Given the description of an element on the screen output the (x, y) to click on. 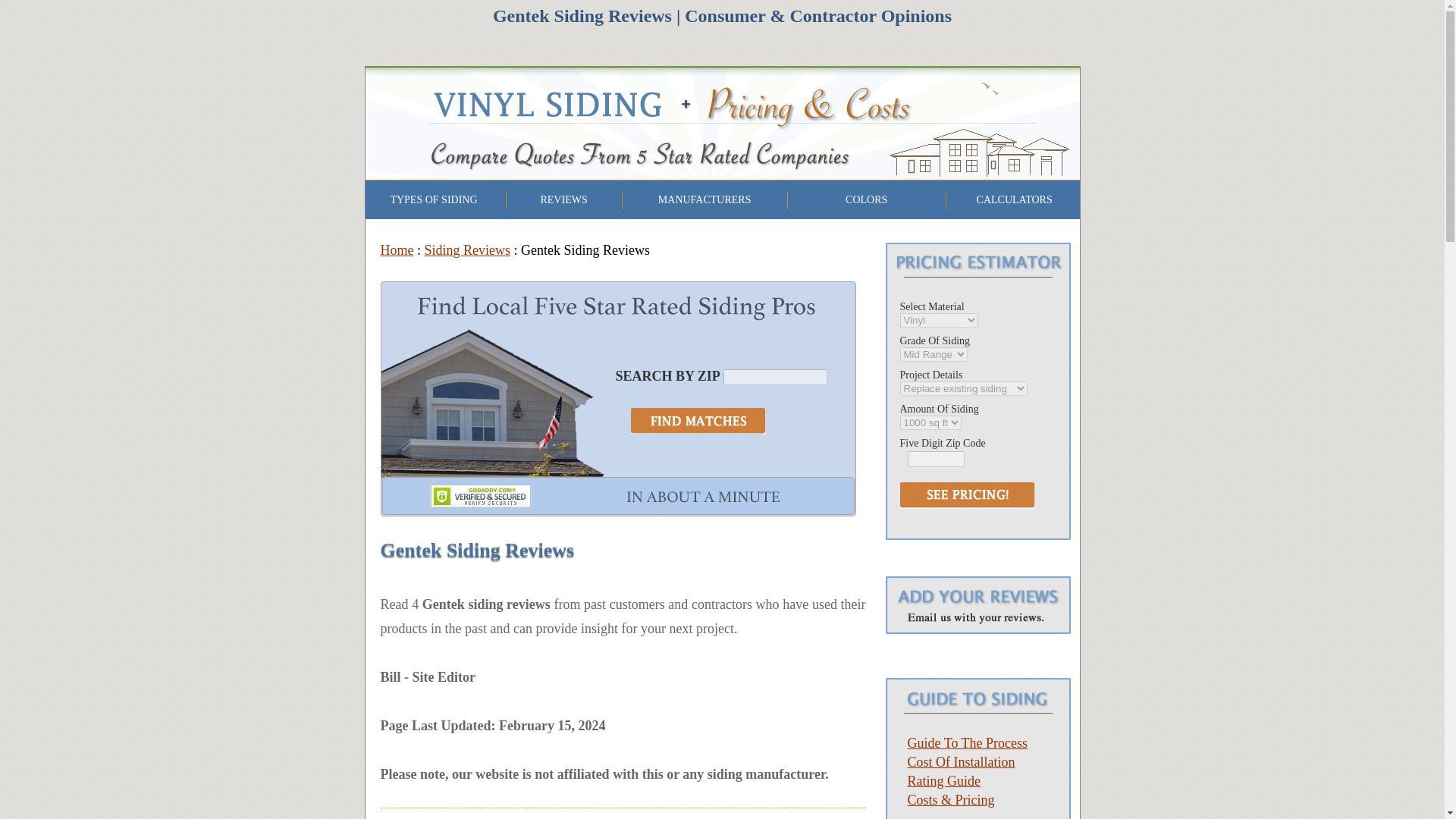
Cost Of Installation (960, 761)
Rating Guide (943, 780)
COLORS (865, 199)
Siding Reviews (468, 249)
Search (697, 420)
TYPES OF SIDING (433, 199)
MANUFACTURERS (704, 199)
REVIEWS (563, 199)
Guide To The Process (967, 743)
Home (396, 249)
